Given the description of an element on the screen output the (x, y) to click on. 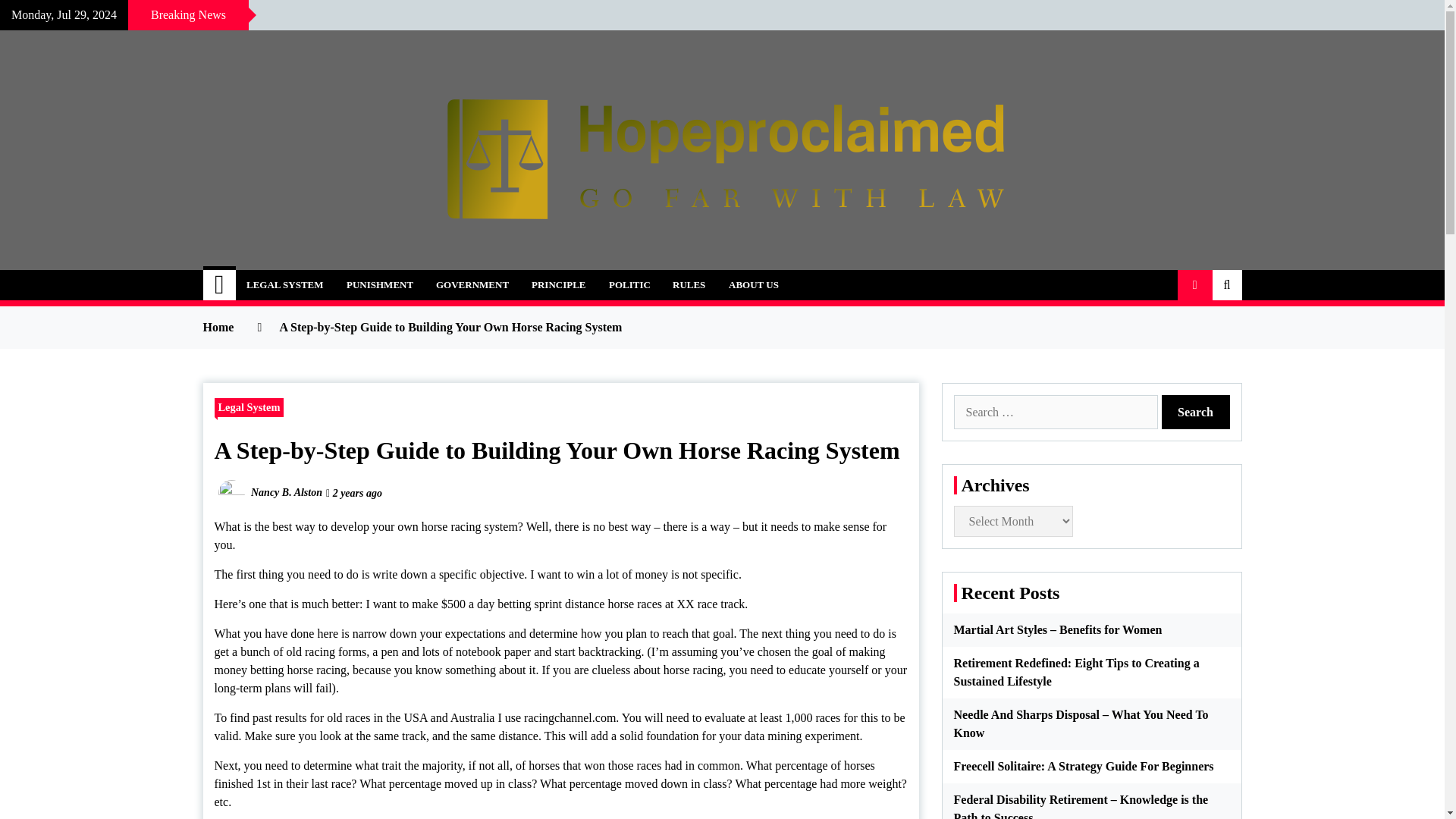
GOVERNMENT (472, 285)
Search (1195, 411)
RULES (688, 285)
Hopeproclaimed (324, 276)
PUNISHMENT (379, 285)
Home (219, 285)
Search (1195, 411)
LEGAL SYSTEM (284, 285)
ABOUT US (753, 285)
POLITIC (629, 285)
PRINCIPLE (557, 285)
